Given the description of an element on the screen output the (x, y) to click on. 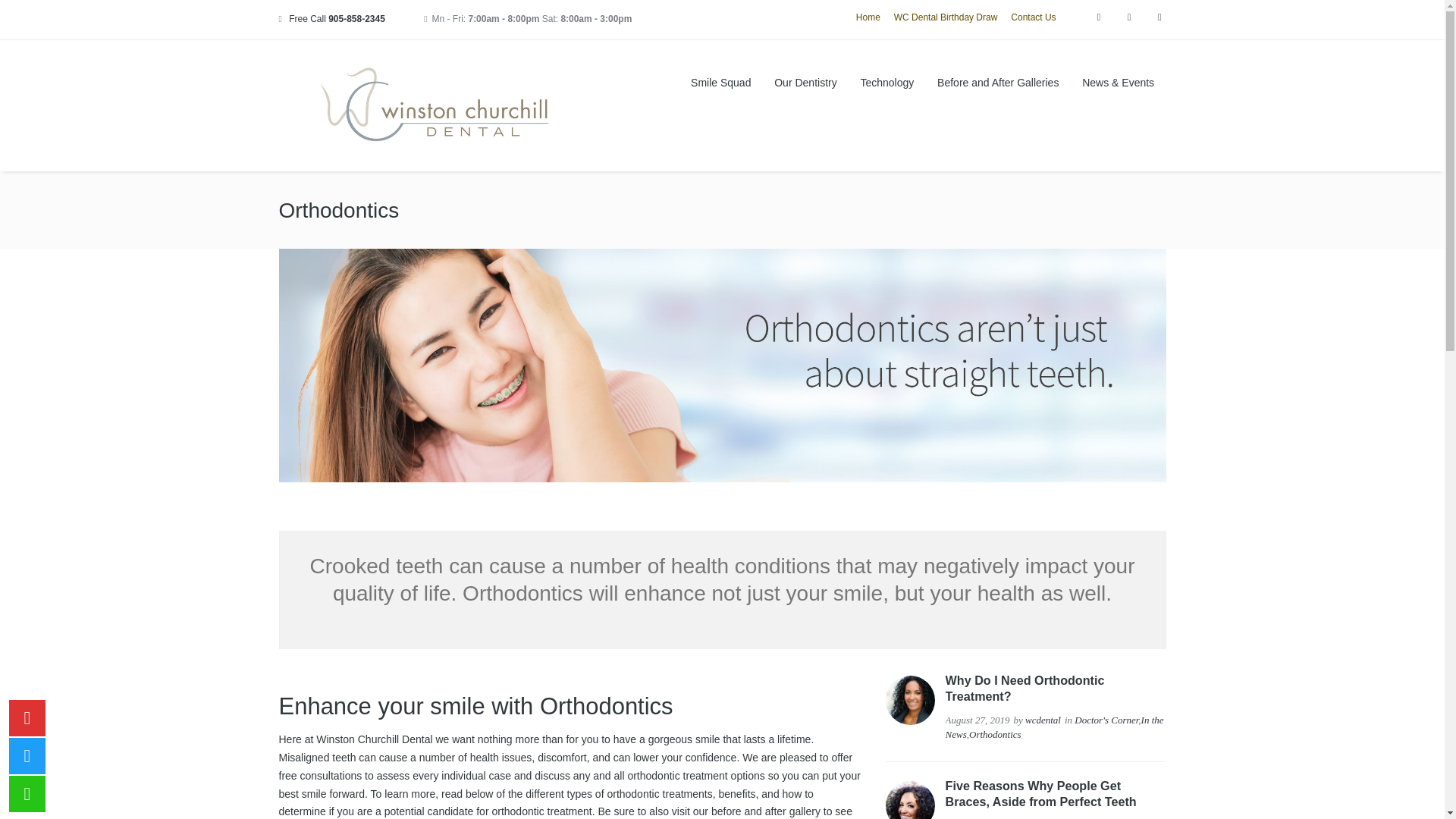
Doctor's Corner (1106, 719)
wcdental (1043, 719)
Before and After Galleries (998, 82)
Why Do I Need Orthodontic Treatment? (1024, 687)
905-858-2345 (357, 18)
Technology (887, 82)
Contact Us (1032, 19)
Our Dentistry (805, 82)
Smile Squad (720, 82)
WC Dental Birthday Draw (945, 19)
In the News (1053, 727)
Orthodontics (995, 734)
Five Reasons Why People Get Braces, Aside from Perfect Teeth (1040, 793)
Home (868, 19)
